Given the description of an element on the screen output the (x, y) to click on. 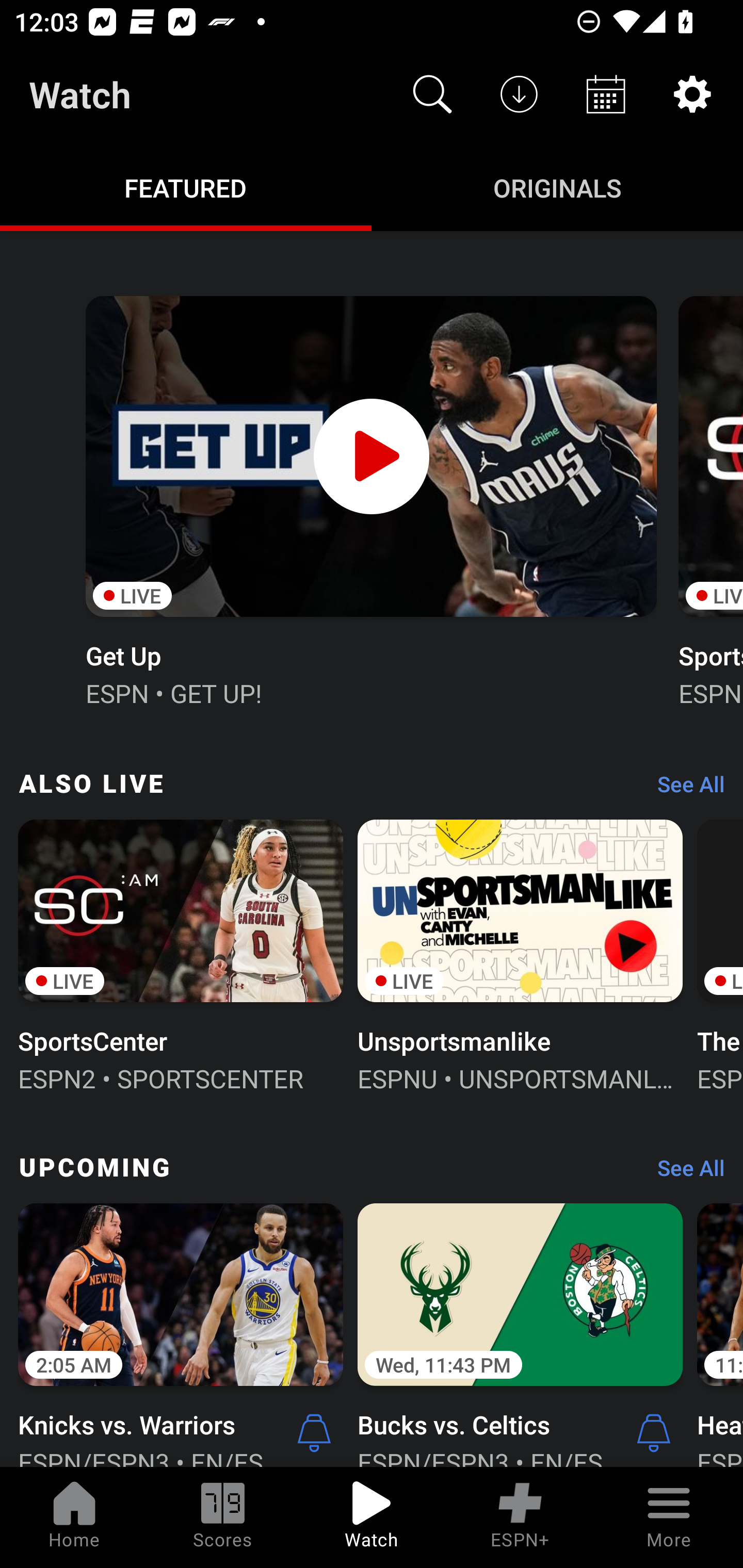
Search (432, 93)
Downloads (518, 93)
Schedule (605, 93)
Settings (692, 93)
Originals ORIGINALS (557, 187)
 LIVE Get Up ESPN • GET UP! (370, 499)
See All (683, 788)
LIVE SportsCenter ESPN2 • SPORTSCENTER (180, 954)
See All (683, 1172)
Alerts (314, 1432)
Alerts (653, 1432)
Home (74, 1517)
Scores (222, 1517)
ESPN+ (519, 1517)
More (668, 1517)
